Given the description of an element on the screen output the (x, y) to click on. 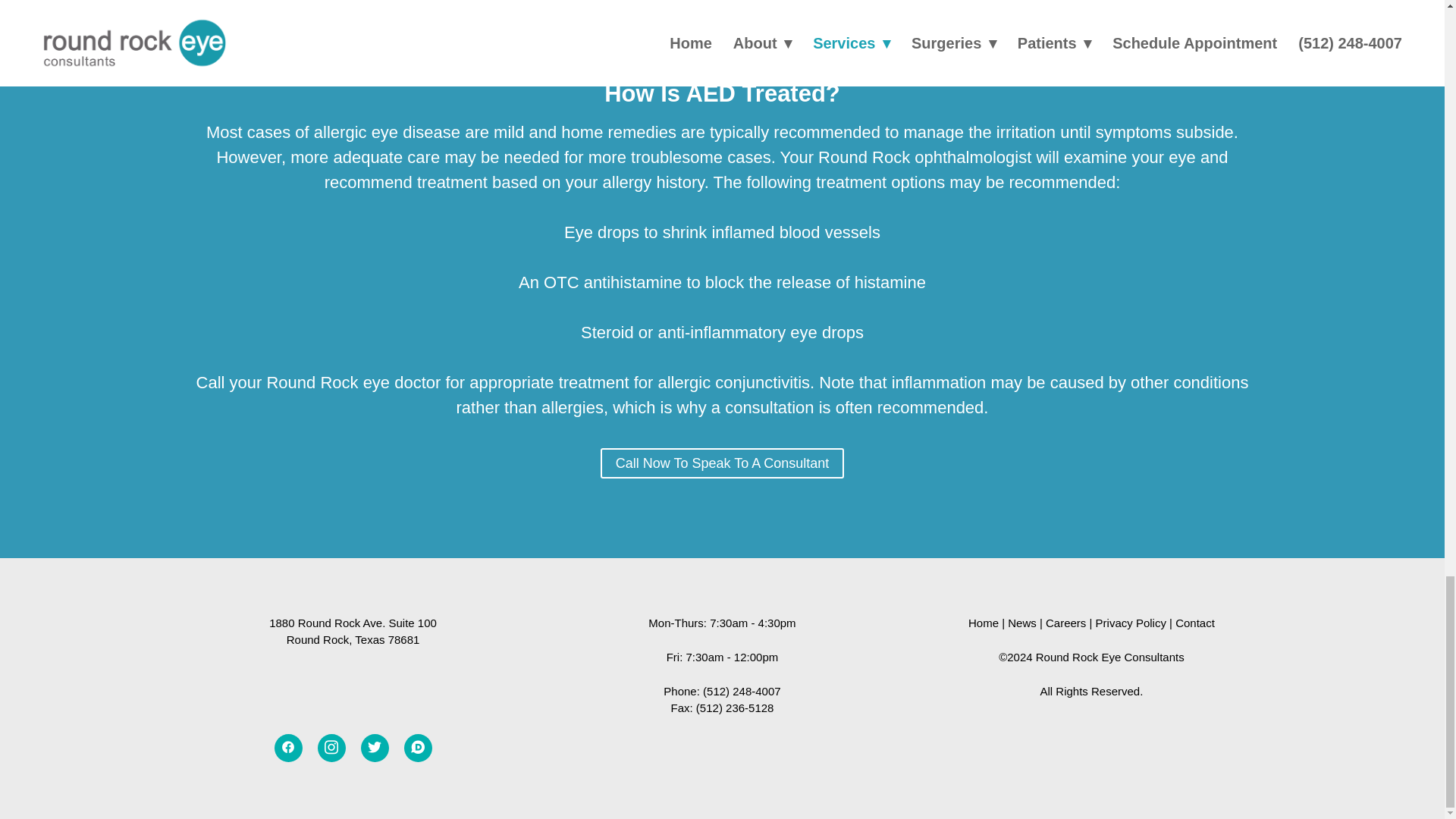
Careers (1065, 622)
News (1021, 622)
Round Rock, Texas 78681 (353, 639)
Home (983, 622)
Call Now To Speak To A Consultant (721, 462)
Contact (1194, 622)
Privacy Policy (1131, 622)
1880 Round Rock Ave. Suite 100 (352, 622)
